Given the description of an element on the screen output the (x, y) to click on. 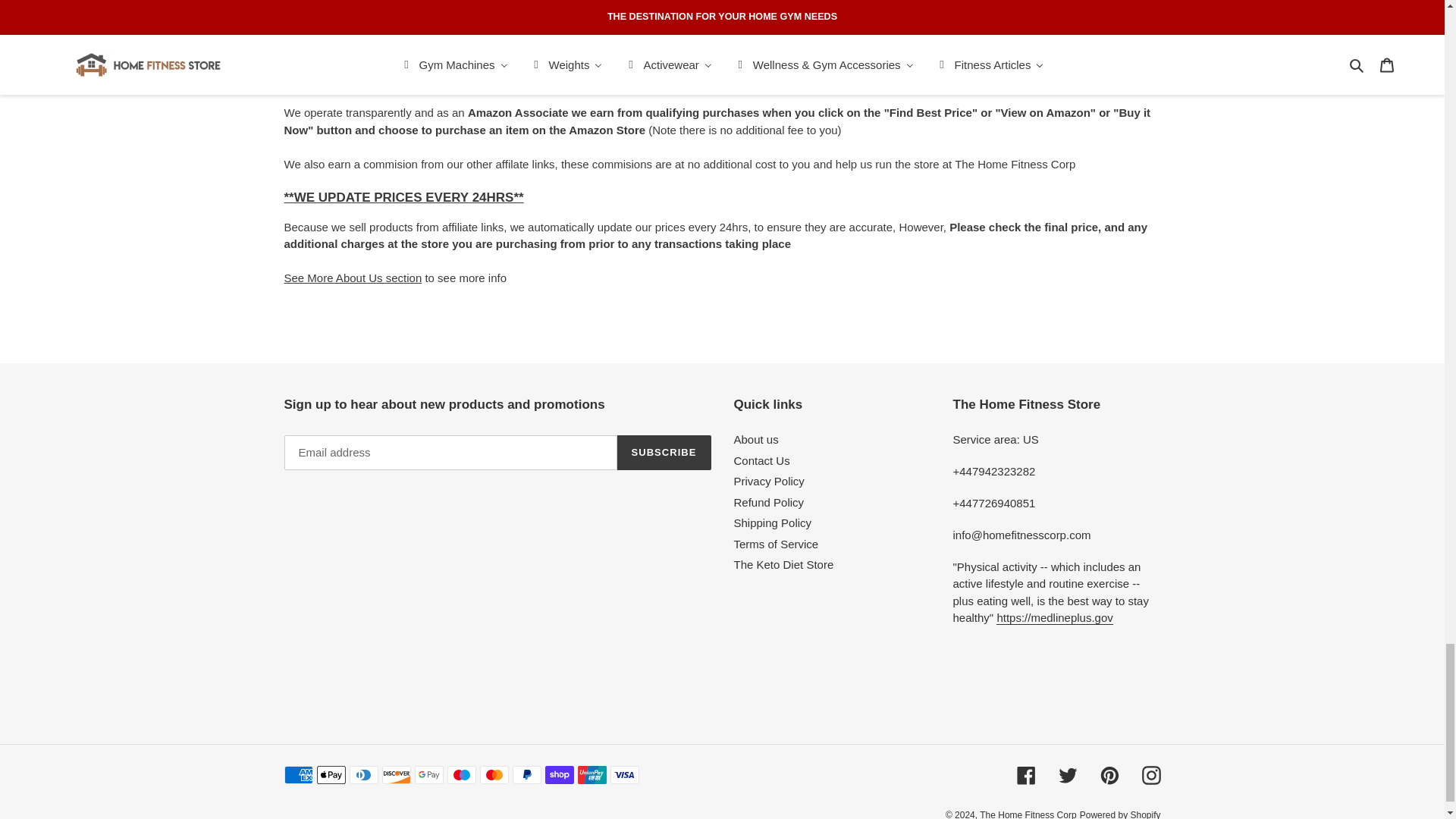
Mastercard (493, 774)
Diners Club (363, 774)
Discover (395, 774)
Maestro (461, 774)
Shop Pay (558, 774)
Union Pay (592, 774)
American Express (298, 774)
Google Pay (427, 774)
Visa (624, 774)
PayPal (526, 774)
Apple Pay (331, 774)
